Given the description of an element on the screen output the (x, y) to click on. 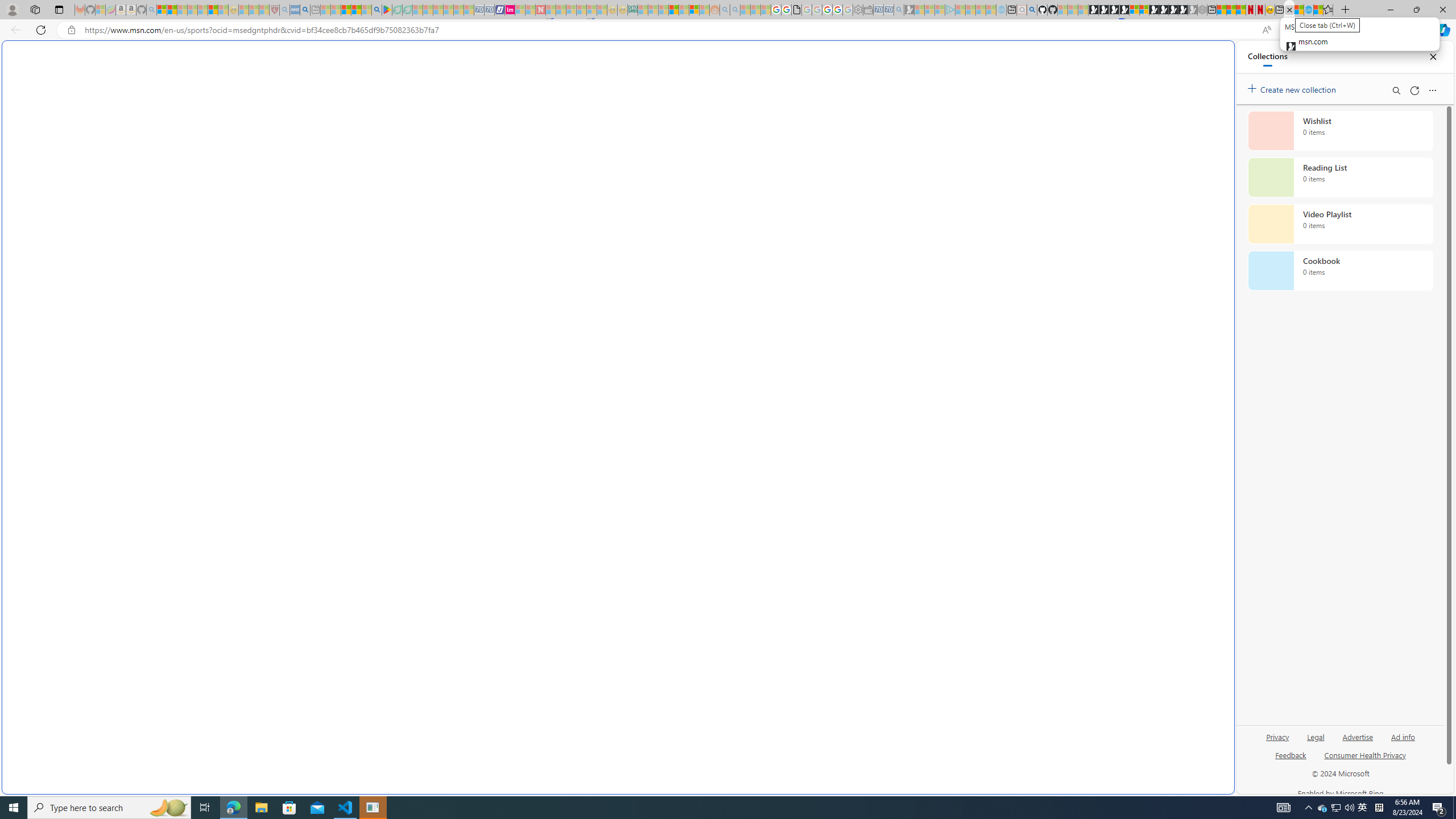
Close split screen (1208, 57)
